Given the description of an element on the screen output the (x, y) to click on. 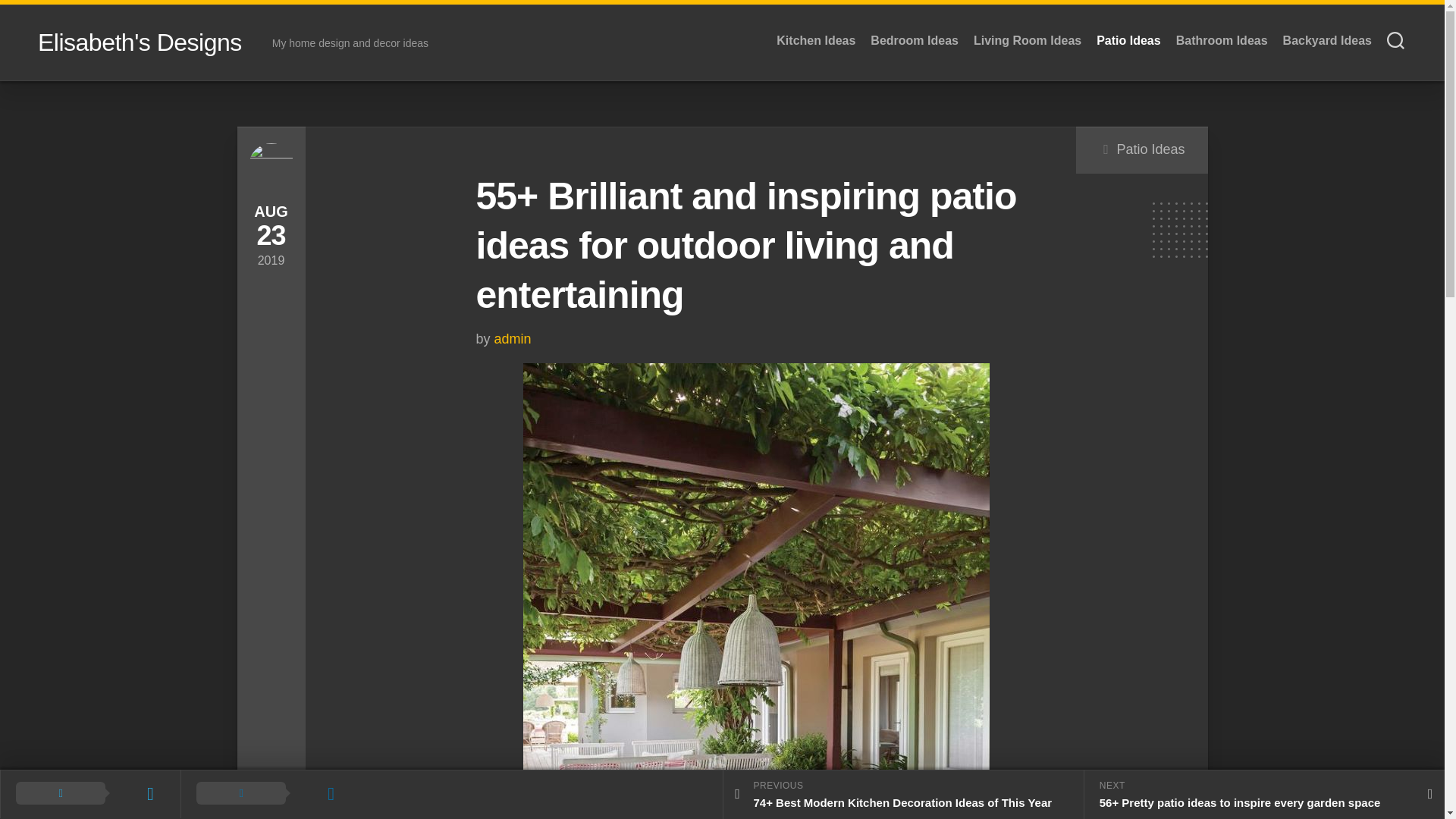
Backyard Ideas (1326, 40)
Kitchen Ideas (816, 40)
Bedroom Ideas (914, 40)
Posts by admin (513, 338)
Bathroom Ideas (1222, 40)
Patio Ideas (1150, 149)
Patio Ideas (1128, 40)
Elisabeth's Designs (139, 42)
Living Room Ideas (1027, 40)
admin (513, 338)
